Given the description of an element on the screen output the (x, y) to click on. 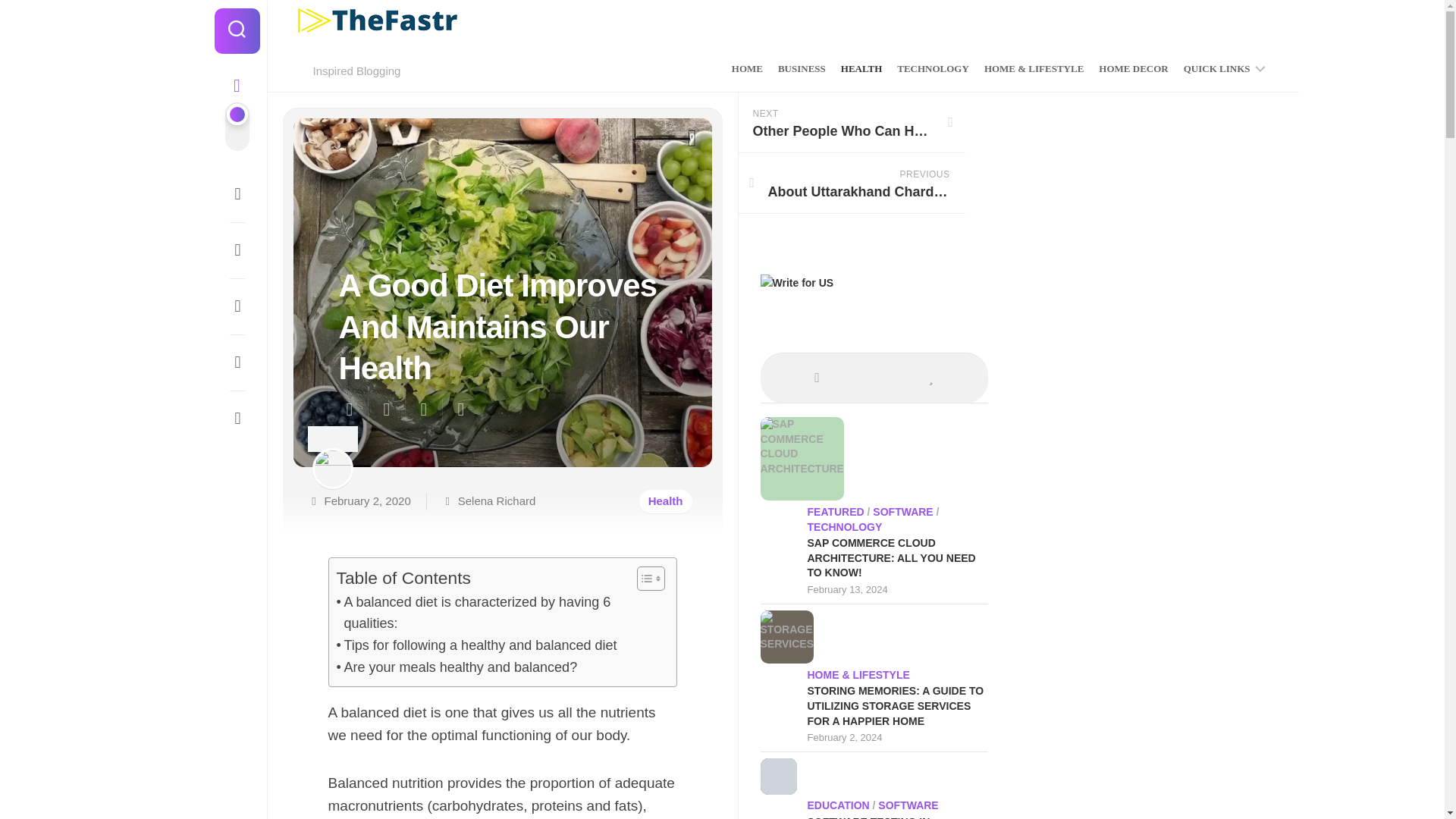
HOME (747, 68)
HEALTH (861, 68)
TECHNOLOGY (932, 68)
Are your meals healthy and balanced? (457, 667)
BUSINESS (801, 68)
QUICK LINKS (1216, 68)
Selena Richard (496, 500)
Tips for following a healthy and balanced diet (476, 645)
Recent Posts (816, 807)
Posts by Selena Richard (496, 500)
